Given the description of an element on the screen output the (x, y) to click on. 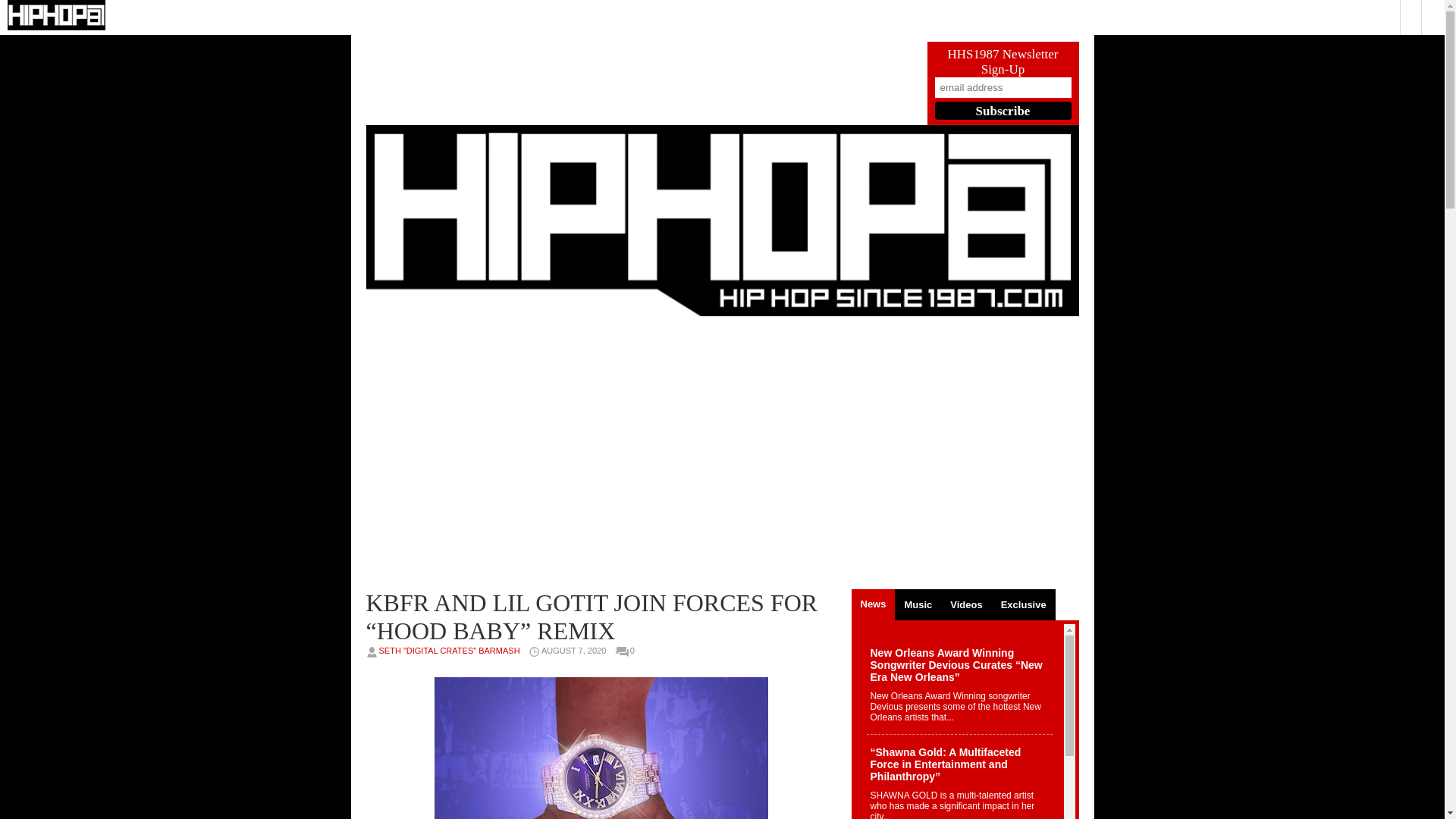
YouTube video player (600, 451)
Subscribe (1002, 110)
Posts by Seth "Digital Crates" Barmash (448, 650)
SETH "DIGITAL CRATES" BARMASH (448, 650)
Subscribe (1002, 110)
0 (635, 650)
